Given the description of an element on the screen output the (x, y) to click on. 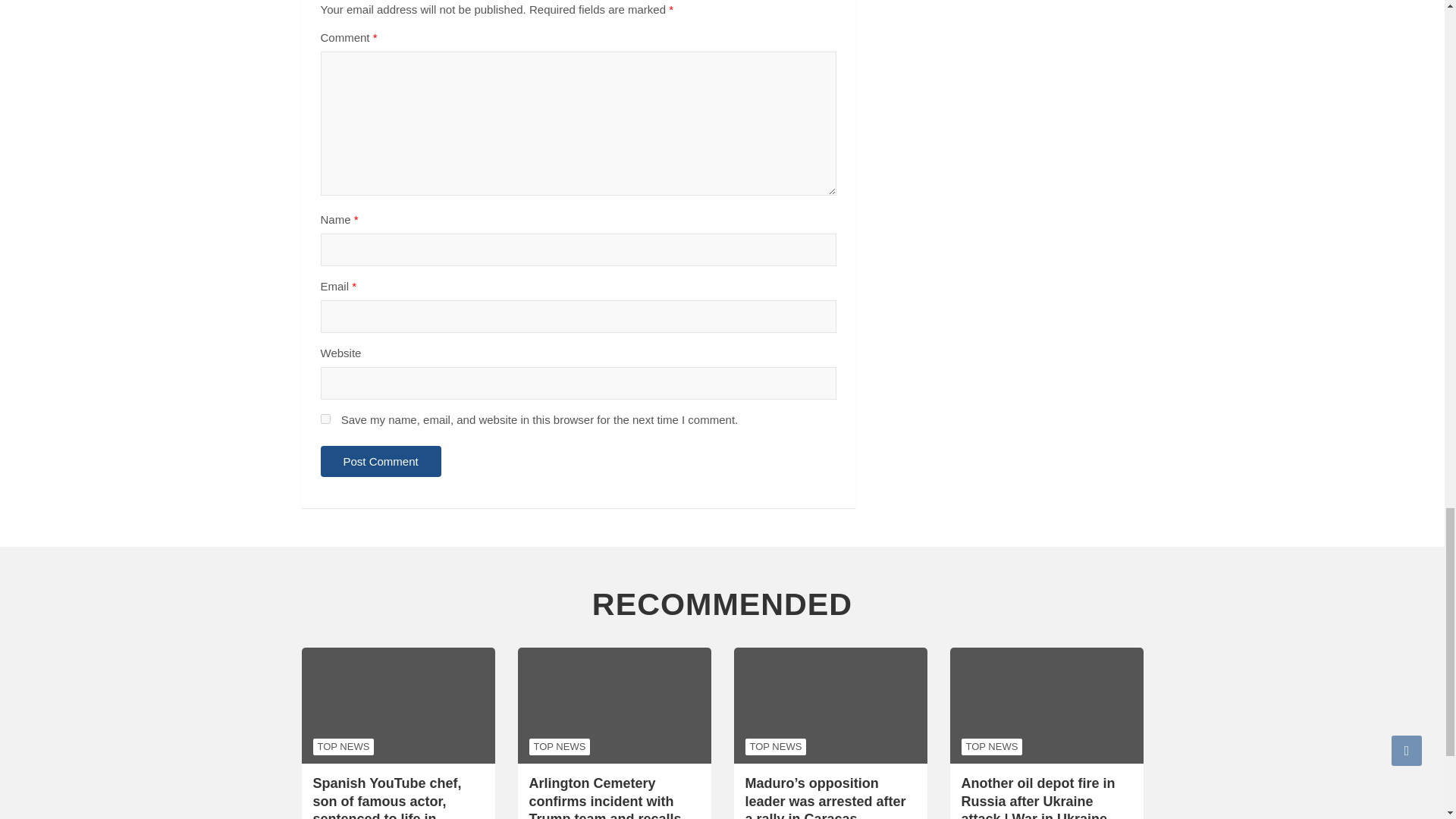
Post Comment (380, 460)
yes (325, 419)
Post Comment (380, 460)
